Given the description of an element on the screen output the (x, y) to click on. 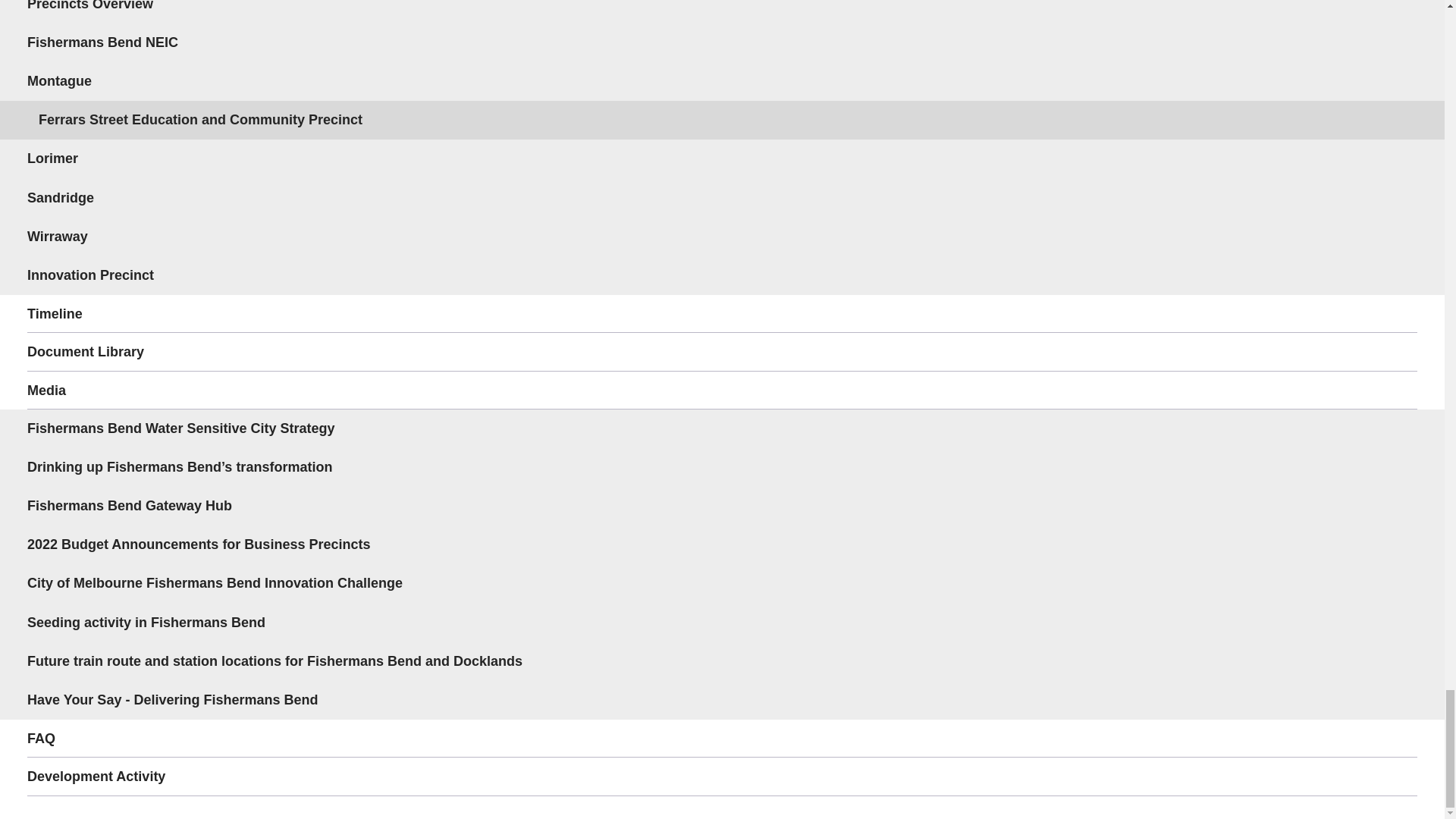
Open submenu (1397, 428)
Open submenu (1397, 351)
Open submenu (1397, 80)
Open submenu (1397, 505)
Open submenu (1397, 390)
